Given the description of an element on the screen output the (x, y) to click on. 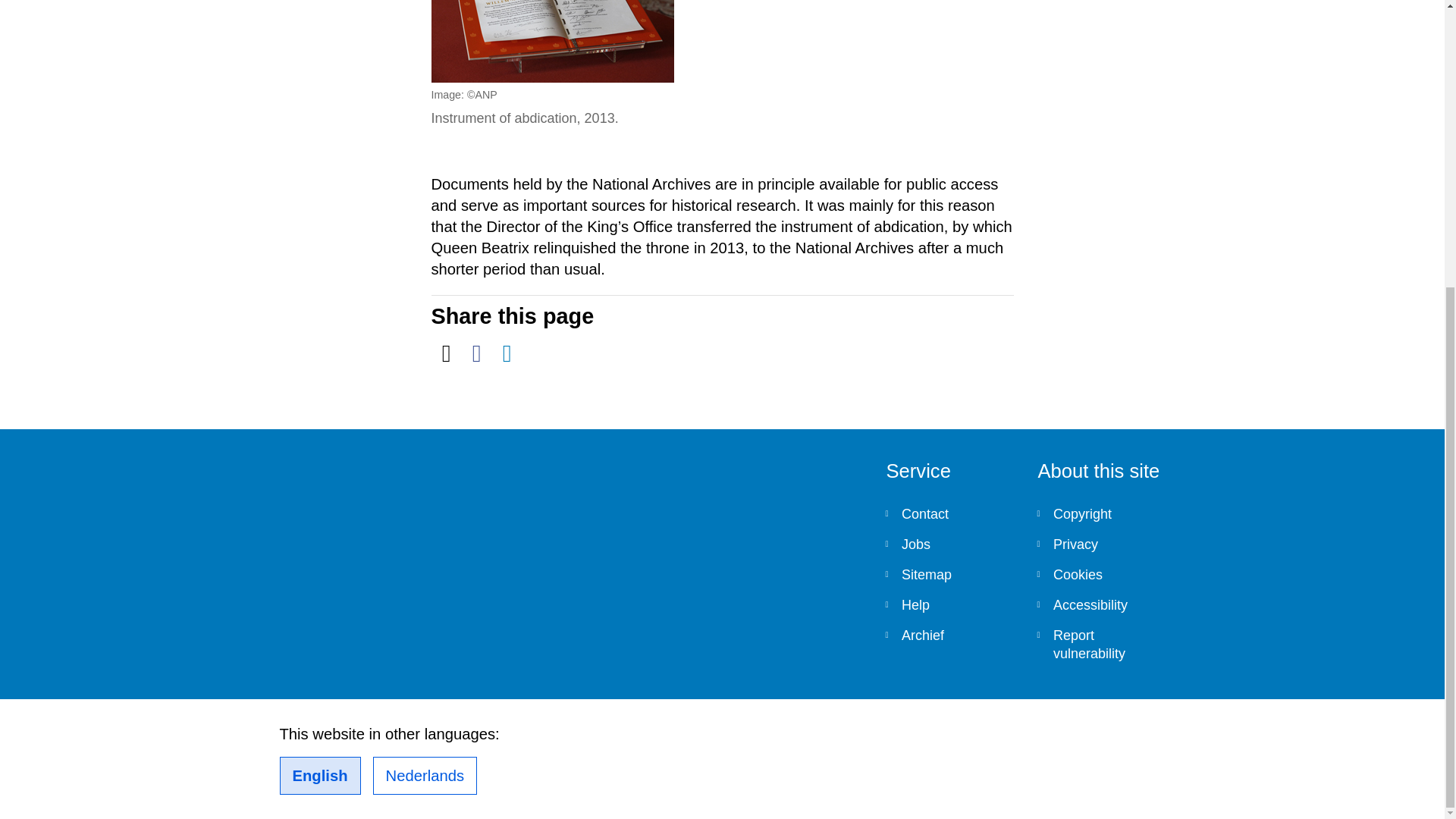
Report vulnerability (1100, 644)
Cookies (1100, 574)
Jobs (949, 544)
Archief (949, 634)
Contact (949, 513)
Privacy (1100, 544)
Help (949, 604)
Share this page on your Twitter account (445, 353)
Sitemap (949, 574)
Share this page on your Facebook account (476, 353)
Copyright (1100, 513)
Share this page on your LinkedIn account (506, 353)
Accessibility (1100, 604)
Nederlands (424, 775)
